Given the description of an element on the screen output the (x, y) to click on. 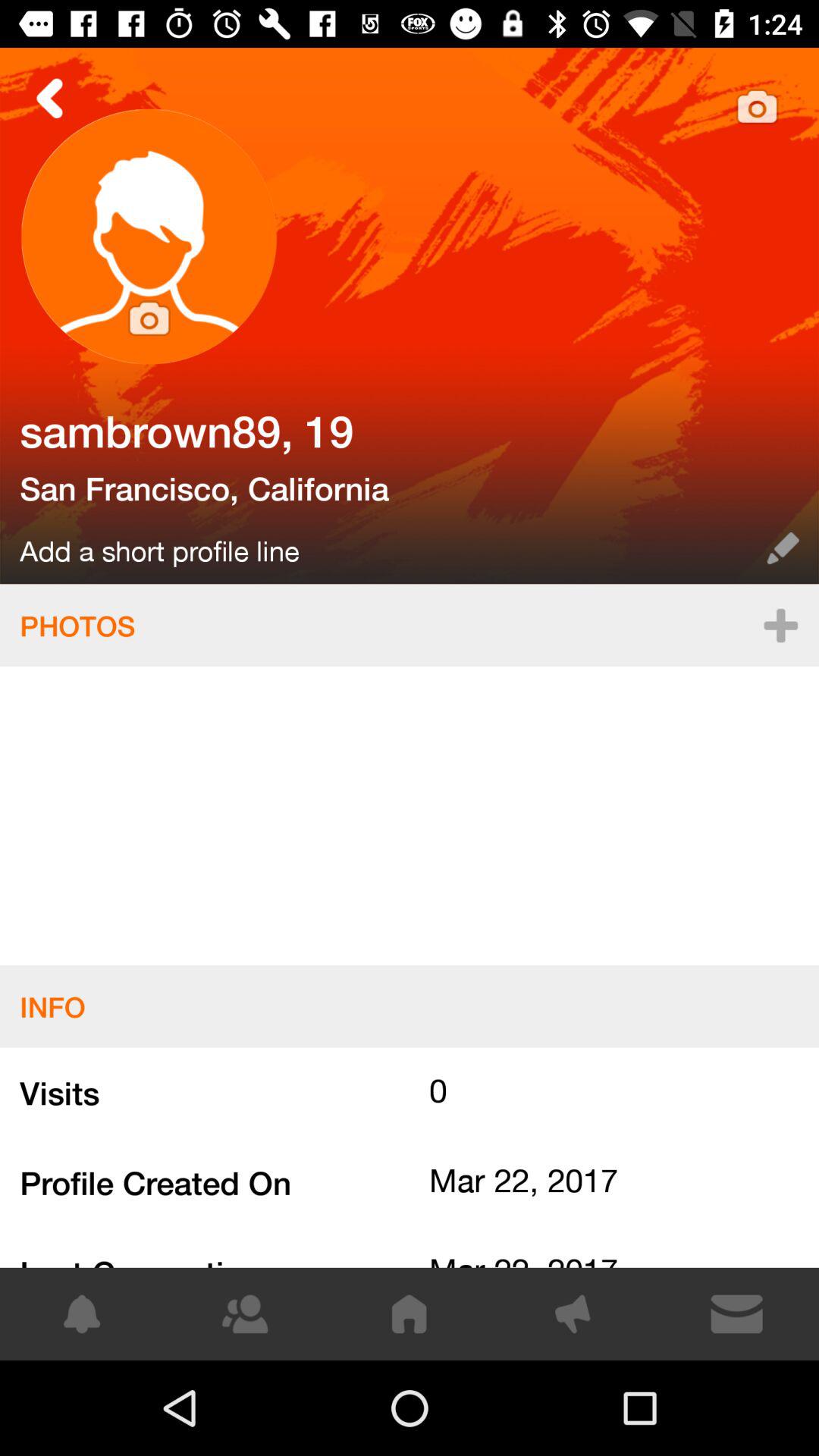
open icon above the photos icon (783, 548)
